Given the description of an element on the screen output the (x, y) to click on. 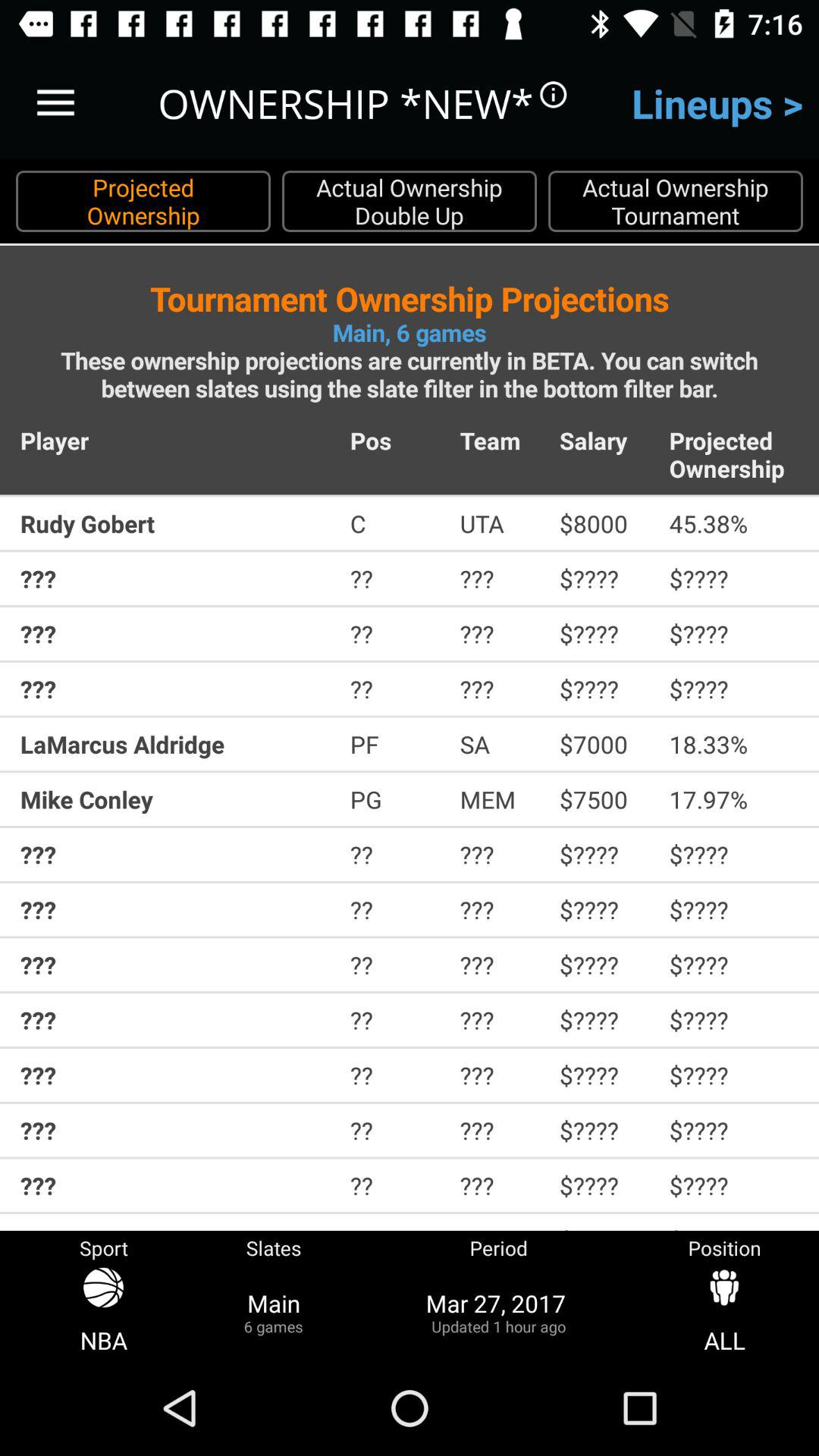
open item next to mike conley icon (394, 799)
